Given the description of an element on the screen output the (x, y) to click on. 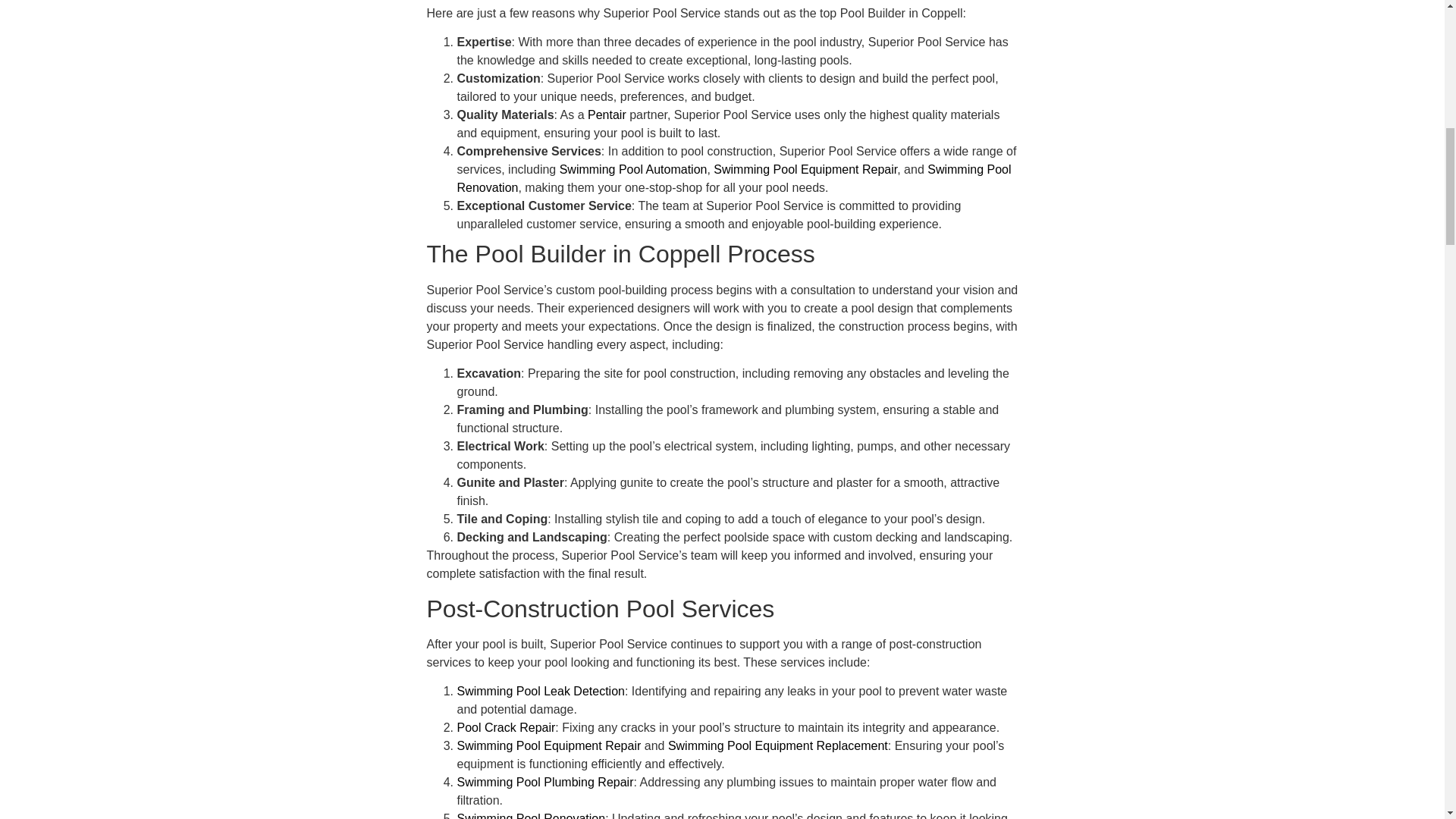
Swimming Pool Plumbing Repair (545, 781)
Swimming Pool Equipment Repair (548, 745)
Swimming Pool Equipment Repair (804, 169)
Pool Crack Repair (505, 727)
Swimming Pool Leak Detection (540, 690)
Pentair (607, 114)
Swimming Pool Automation (633, 169)
Swimming Pool Equipment Replacement (778, 745)
Swimming Pool Renovation (733, 178)
Swimming Pool Renovation (531, 815)
